Given the description of an element on the screen output the (x, y) to click on. 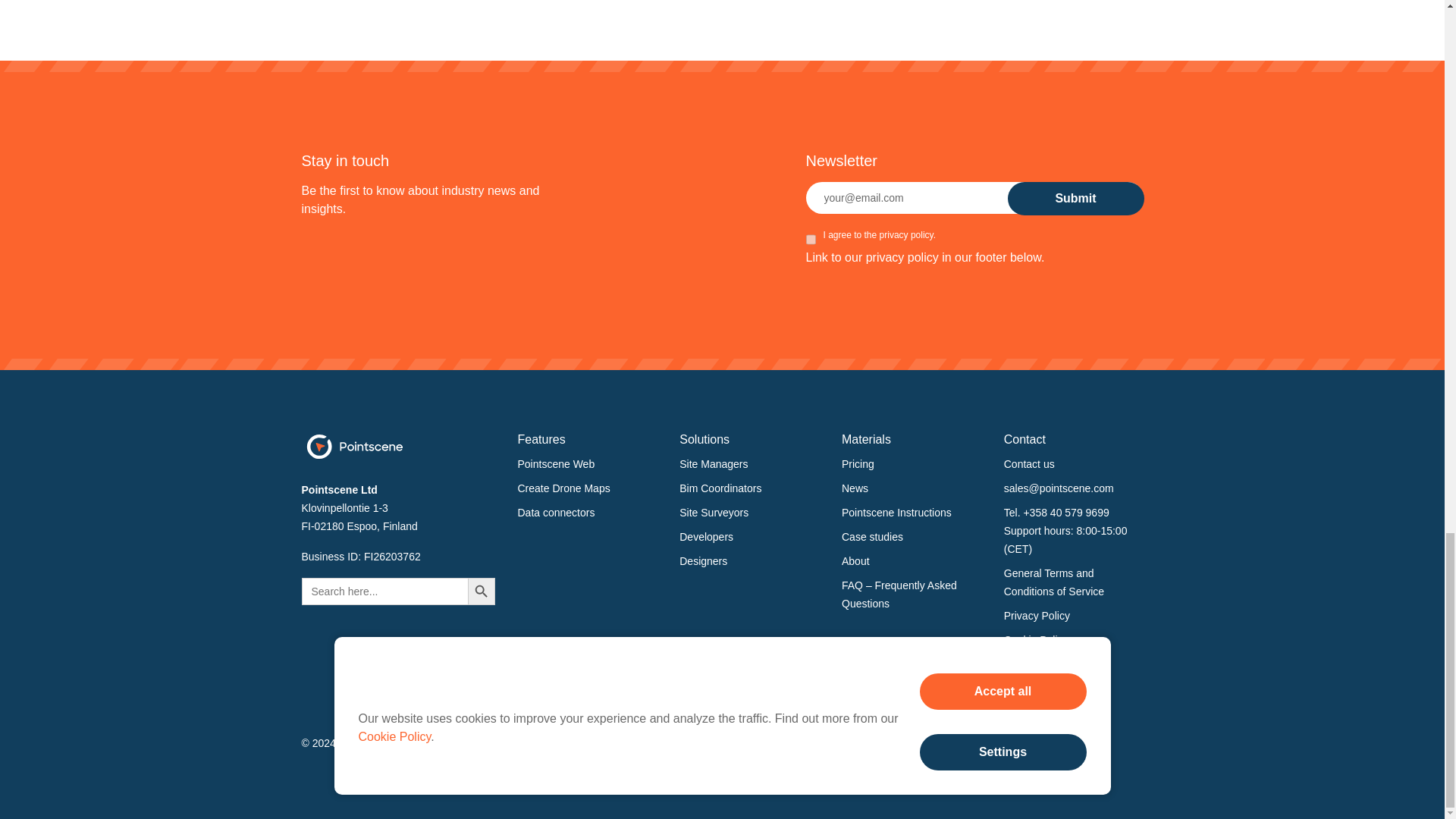
Submit (1074, 198)
